Given the description of an element on the screen output the (x, y) to click on. 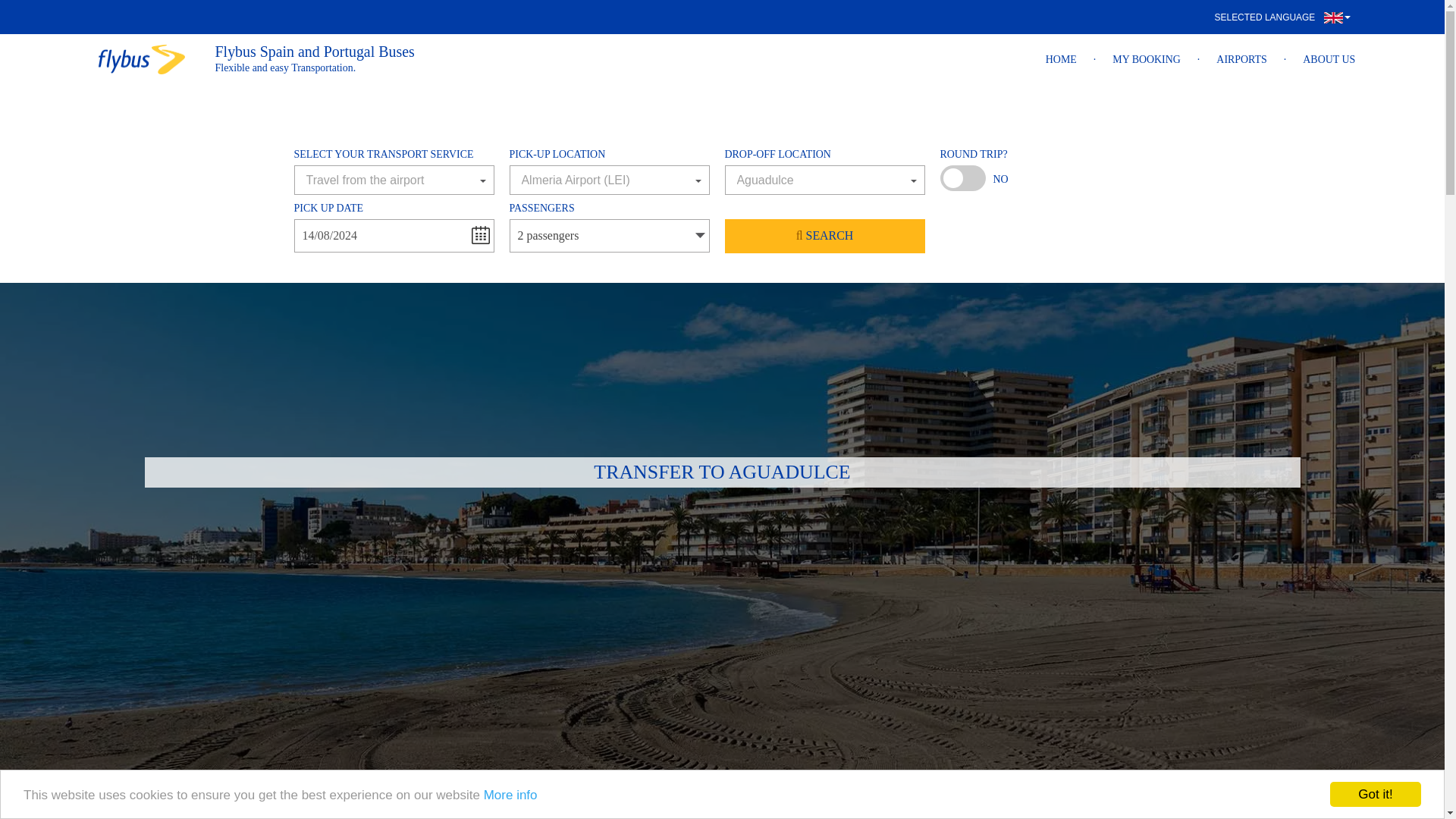
SEARCH (824, 236)
HOME (1061, 59)
AIRPORTS (1240, 59)
MY BOOKING (1146, 59)
ABOUT US (1329, 59)
SELECTED LANGUAGE (1282, 17)
2 passengers (609, 235)
